Given the description of an element on the screen output the (x, y) to click on. 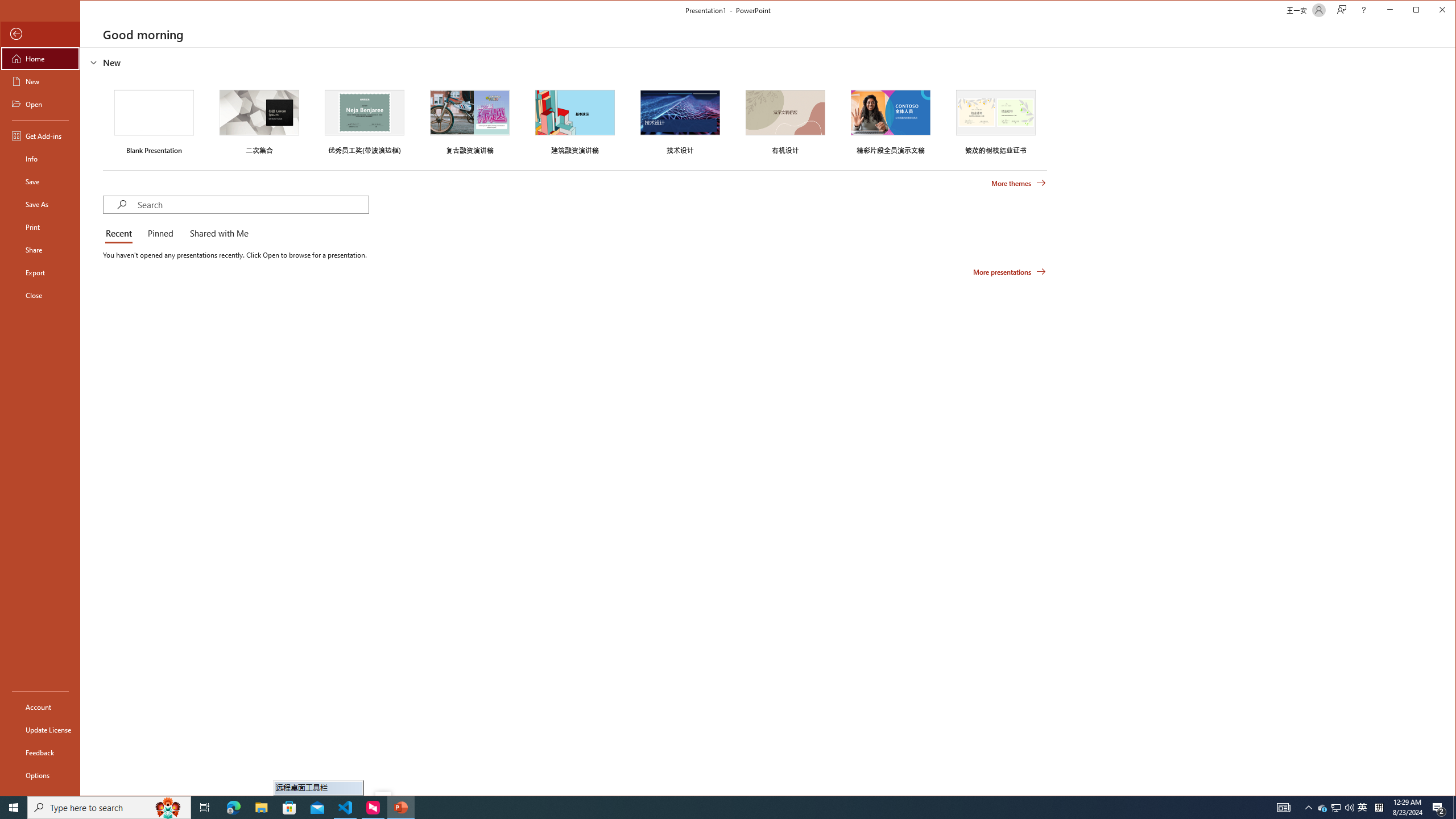
Shared with Me (216, 234)
Pinned (160, 234)
More themes (1018, 183)
More presentations (1009, 271)
